Given the description of an element on the screen output the (x, y) to click on. 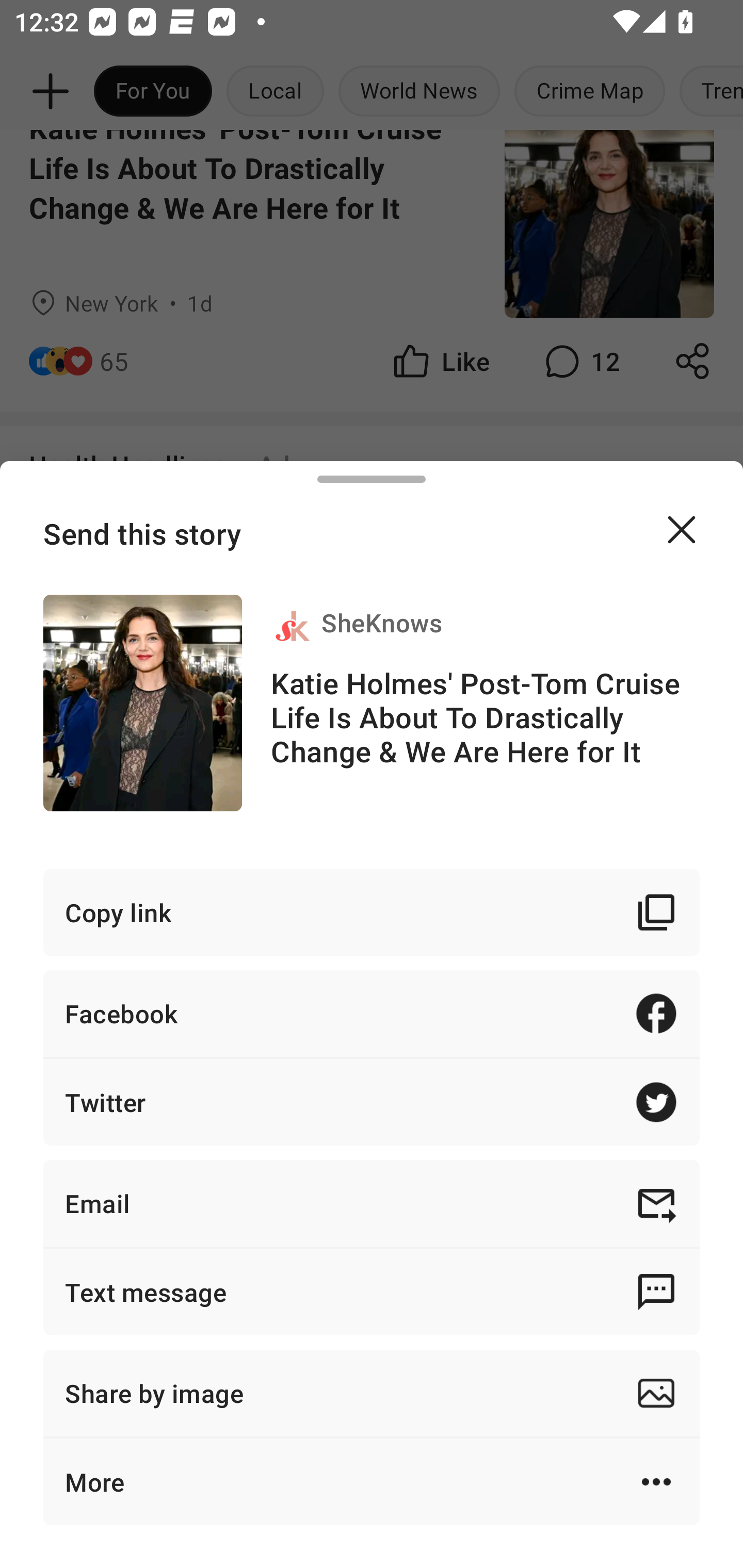
Copy link (371, 912)
Facebook (371, 1013)
Twitter (371, 1102)
Email (371, 1203)
Text message (371, 1291)
Share by image (371, 1393)
More (371, 1481)
